Given the description of an element on the screen output the (x, y) to click on. 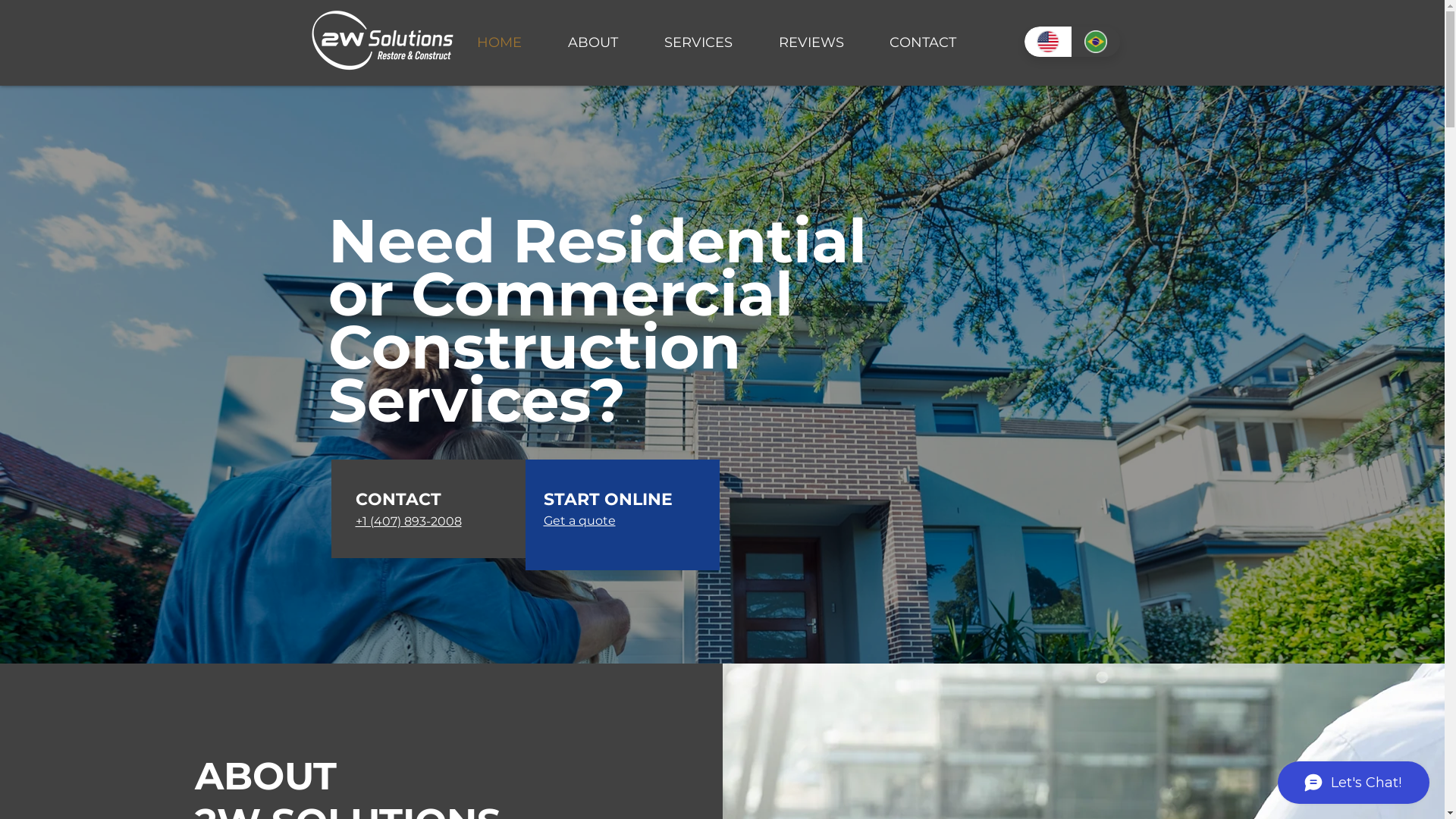
SERVICES Element type: text (698, 42)
HOME Element type: text (498, 42)
Get a quote Element type: text (578, 520)
+1 (407) 893-2008 Element type: text (407, 521)
ABOUT Element type: text (592, 42)
REVIEWS Element type: text (810, 42)
CONTACT Element type: text (922, 42)
